Given the description of an element on the screen output the (x, y) to click on. 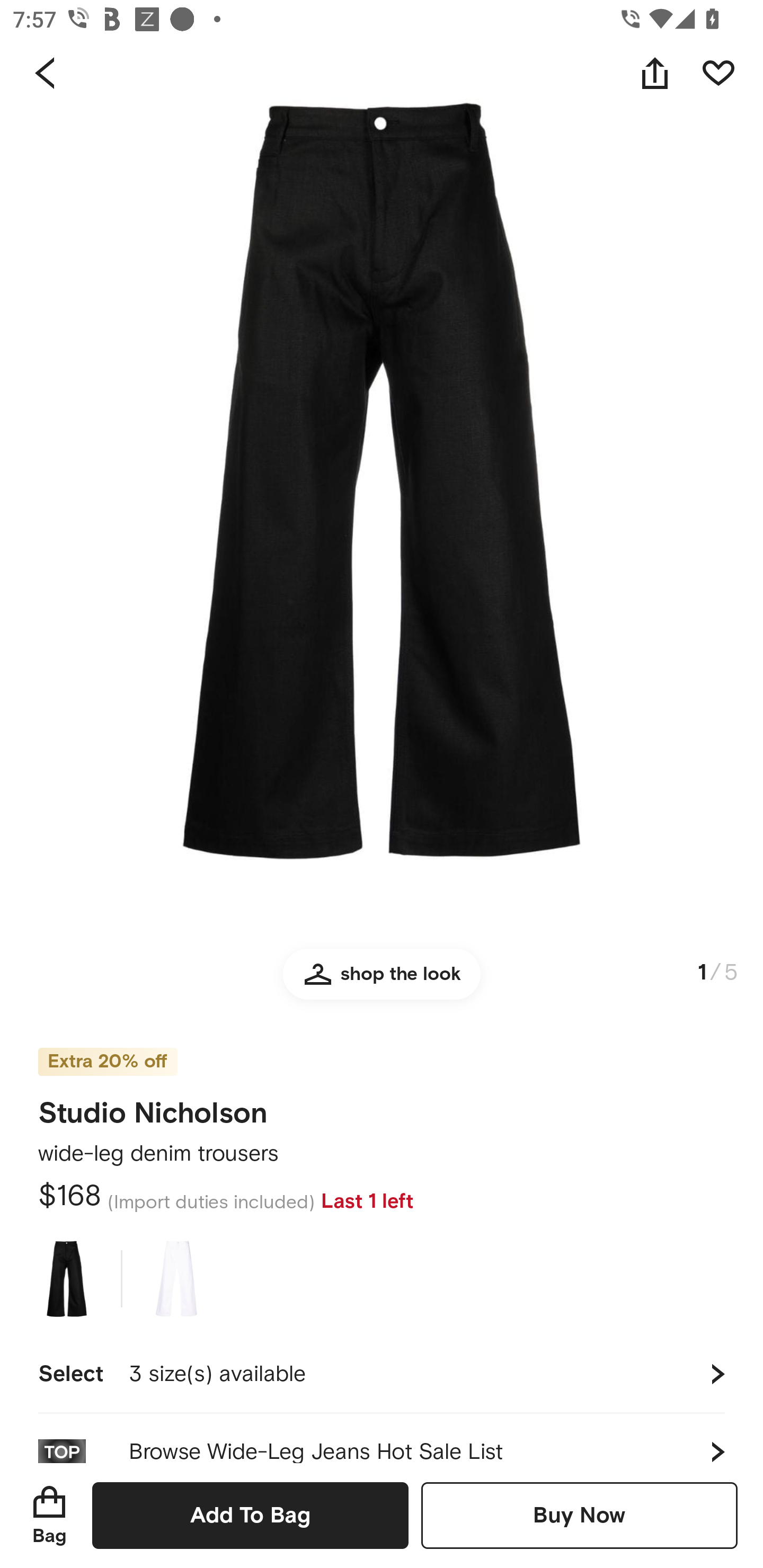
shop the look (381, 982)
Extra 20% off (107, 1049)
Studio Nicholson (152, 1107)
Select 3 size(s) available (381, 1373)
Browse Wide-Leg Jeans Hot Sale List (381, 1438)
Bag (49, 1515)
Add To Bag (250, 1515)
Buy Now (579, 1515)
